Given the description of an element on the screen output the (x, y) to click on. 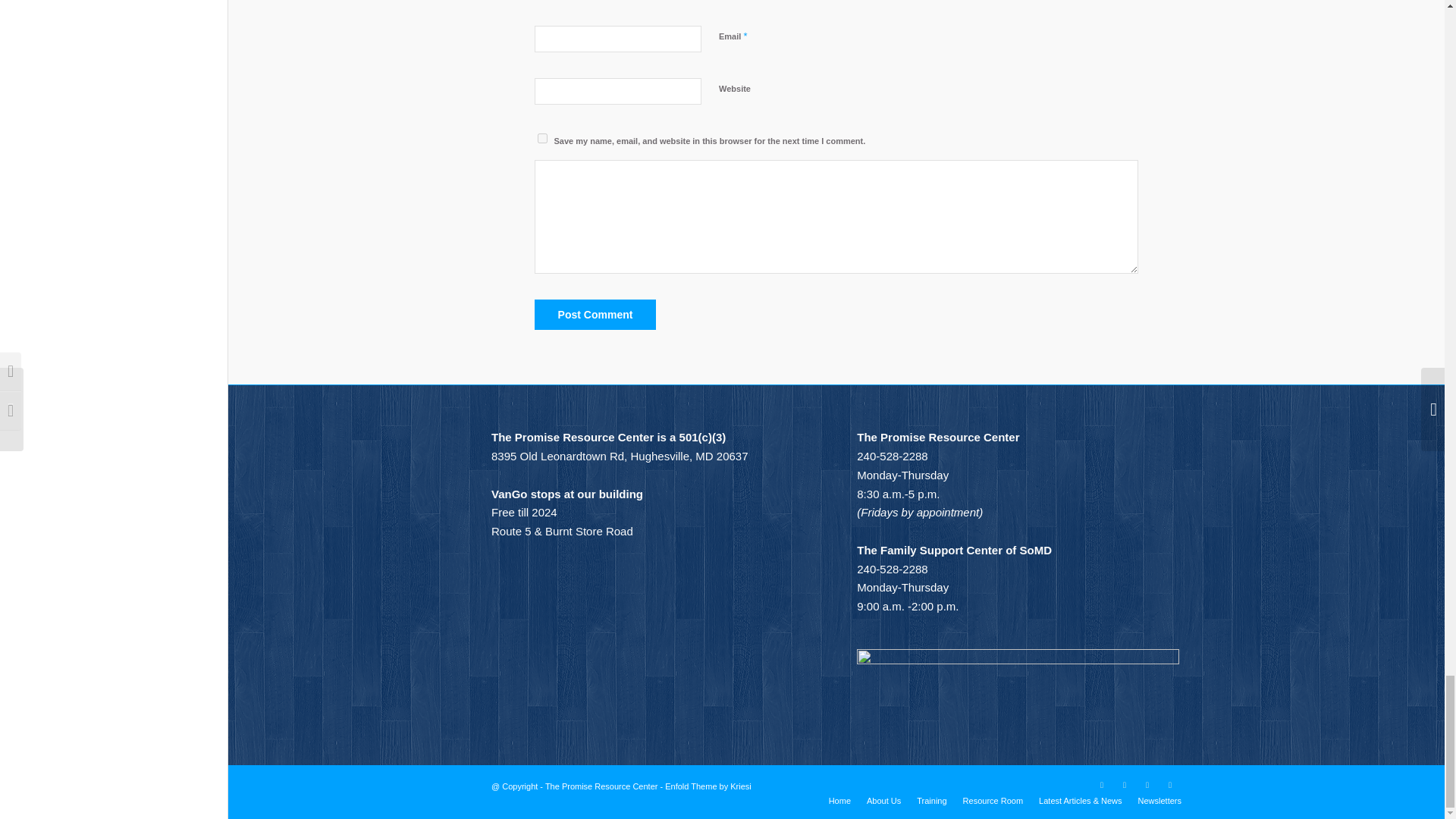
Post Comment (595, 314)
yes (542, 138)
